Given the description of an element on the screen output the (x, y) to click on. 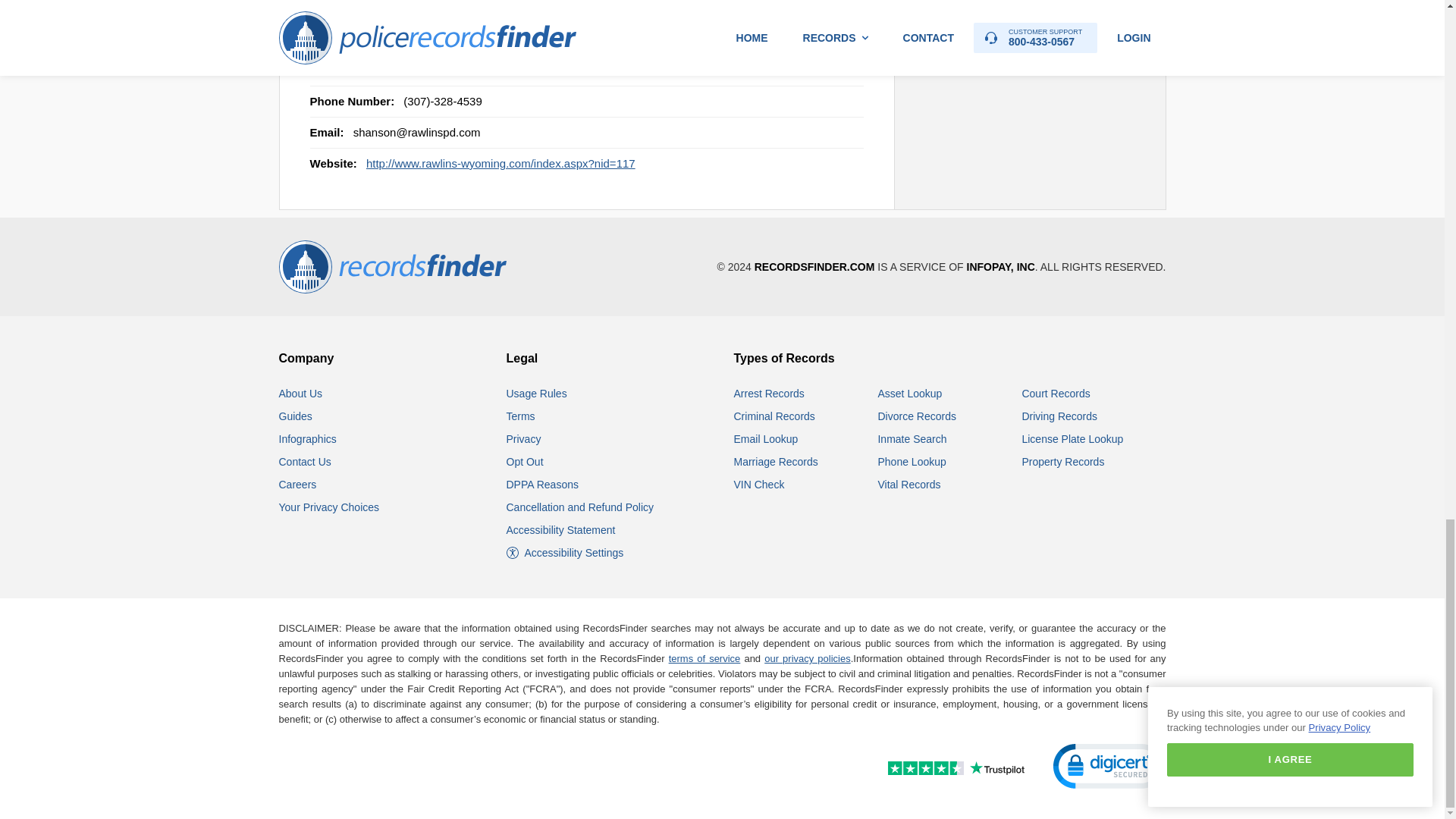
About RecordsFinder.com (301, 393)
Contact RecordsFinder.com (305, 461)
RecordsFinder.com Privacy Policy (523, 439)
RecordsFinder.com Terms and Conditions (520, 416)
RecordsFinder.com Usage Rules (536, 393)
Careers at RecordsFinder.com (298, 484)
Guides and How tos (296, 416)
View Public Records Infographics and Statistics (307, 439)
RecordsFinder.com Cancellation and Refund Policy (579, 507)
RecordsFinder.com DPPA Reasons (542, 484)
RecordsFinder.com Opt Out Instructions (524, 461)
RecordsFinder.com Accessibility Statement (560, 530)
Your Privacy Choices (329, 507)
Customer reviews powered by Trustpilot (922, 769)
